Given the description of an element on the screen output the (x, y) to click on. 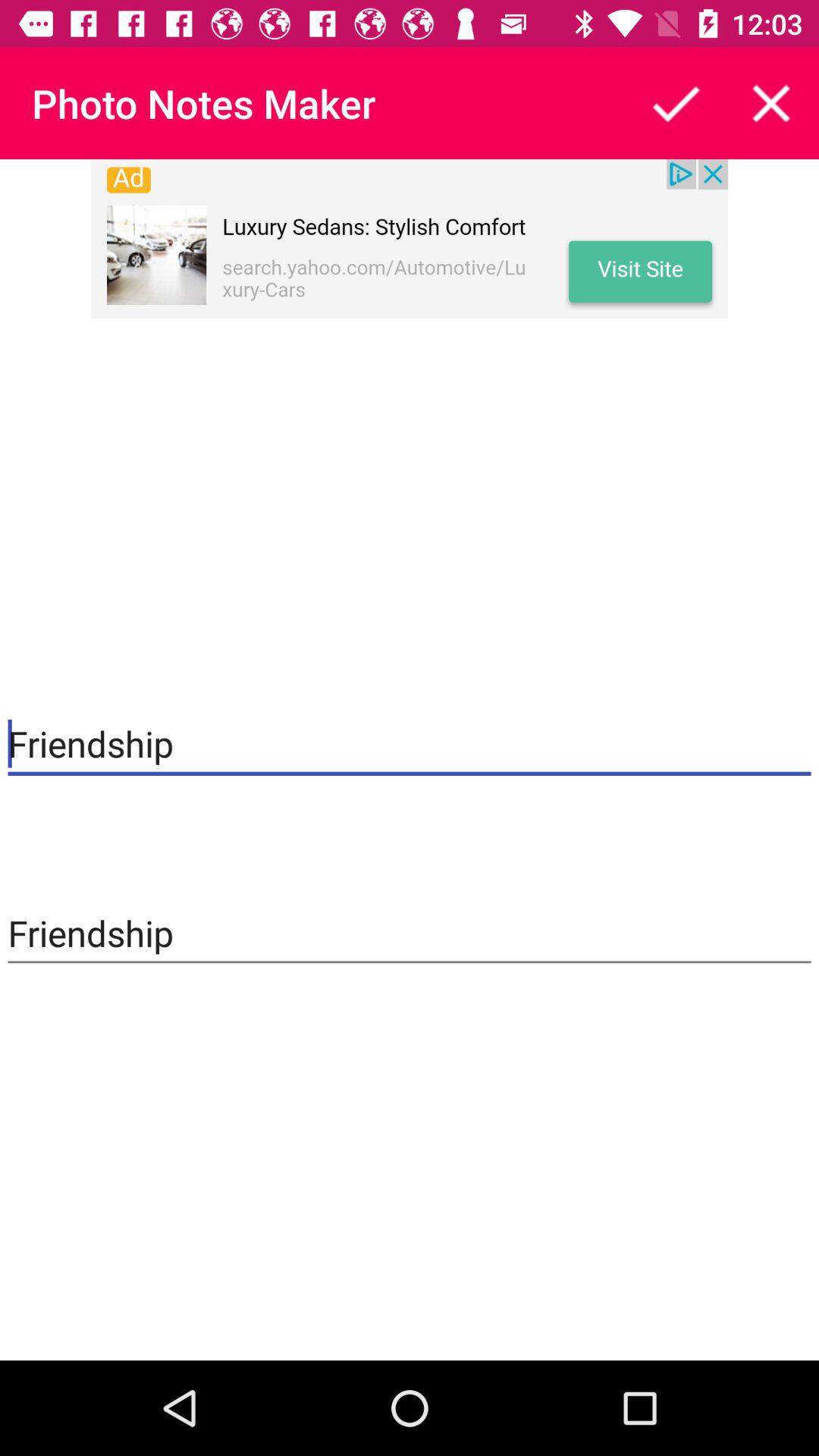
go to close (771, 103)
